Given the description of an element on the screen output the (x, y) to click on. 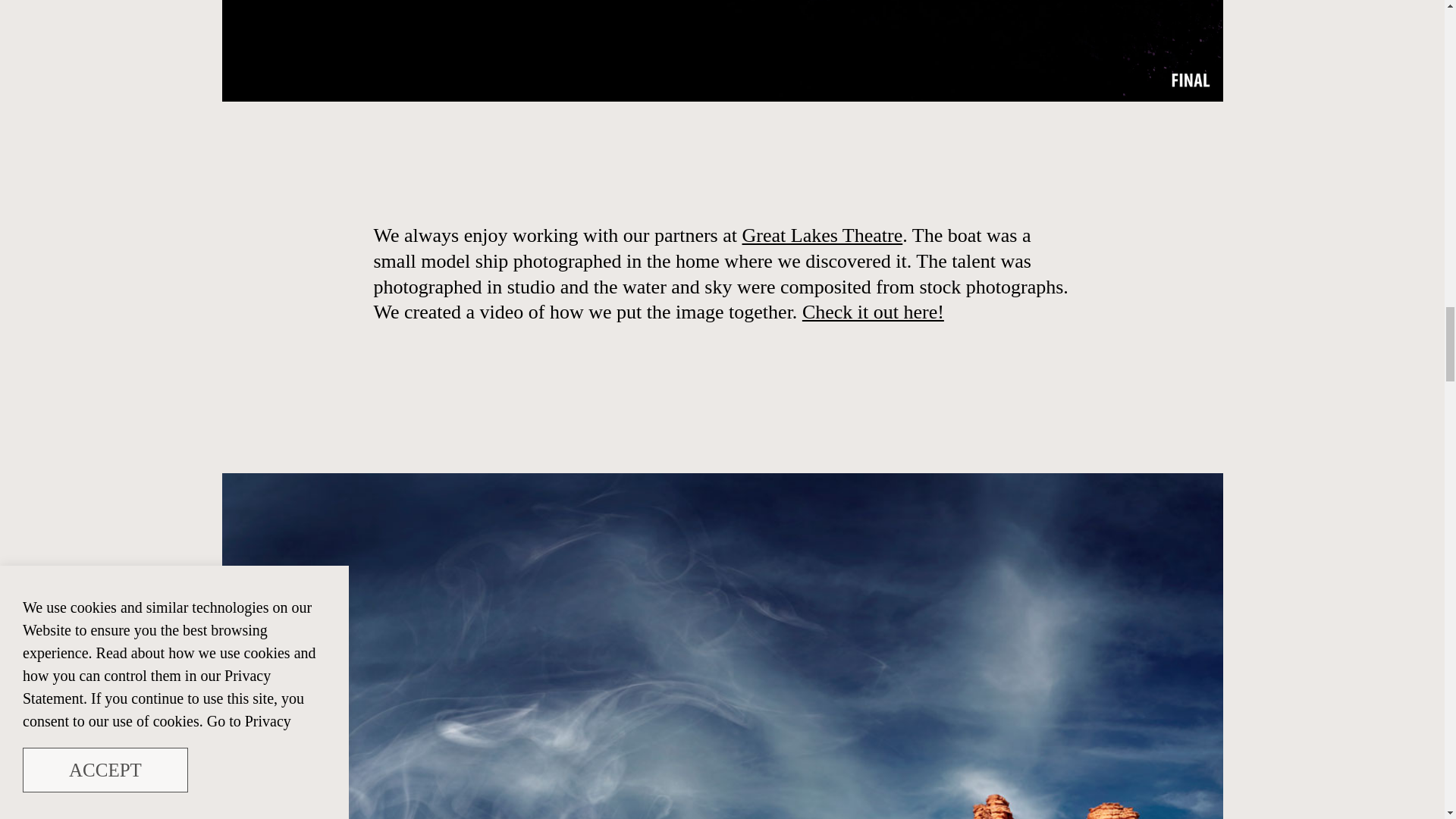
Great Lakes Theatre (822, 235)
Check it out here! (872, 311)
